Given the description of an element on the screen output the (x, y) to click on. 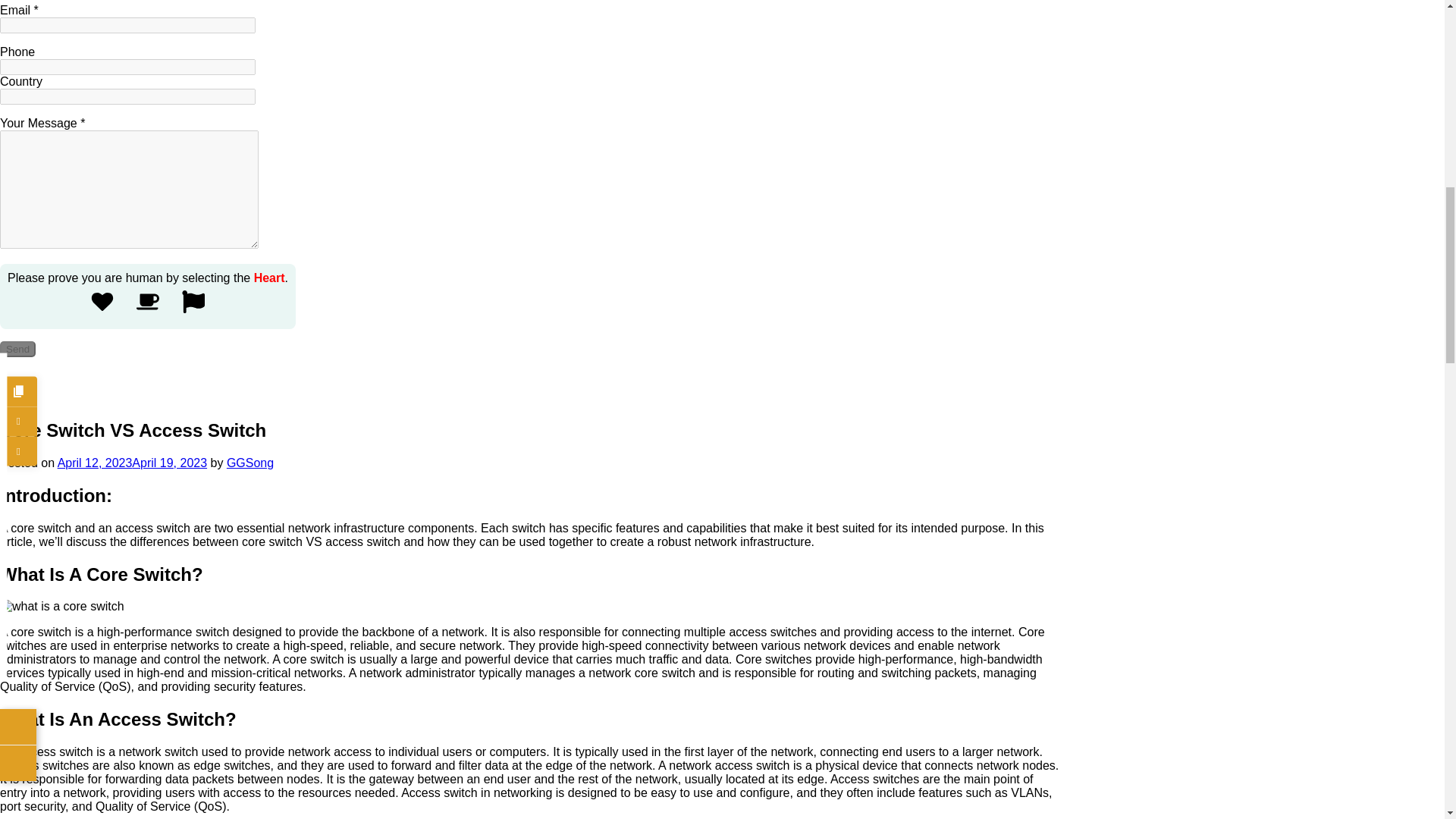
Send (17, 349)
